Given the description of an element on the screen output the (x, y) to click on. 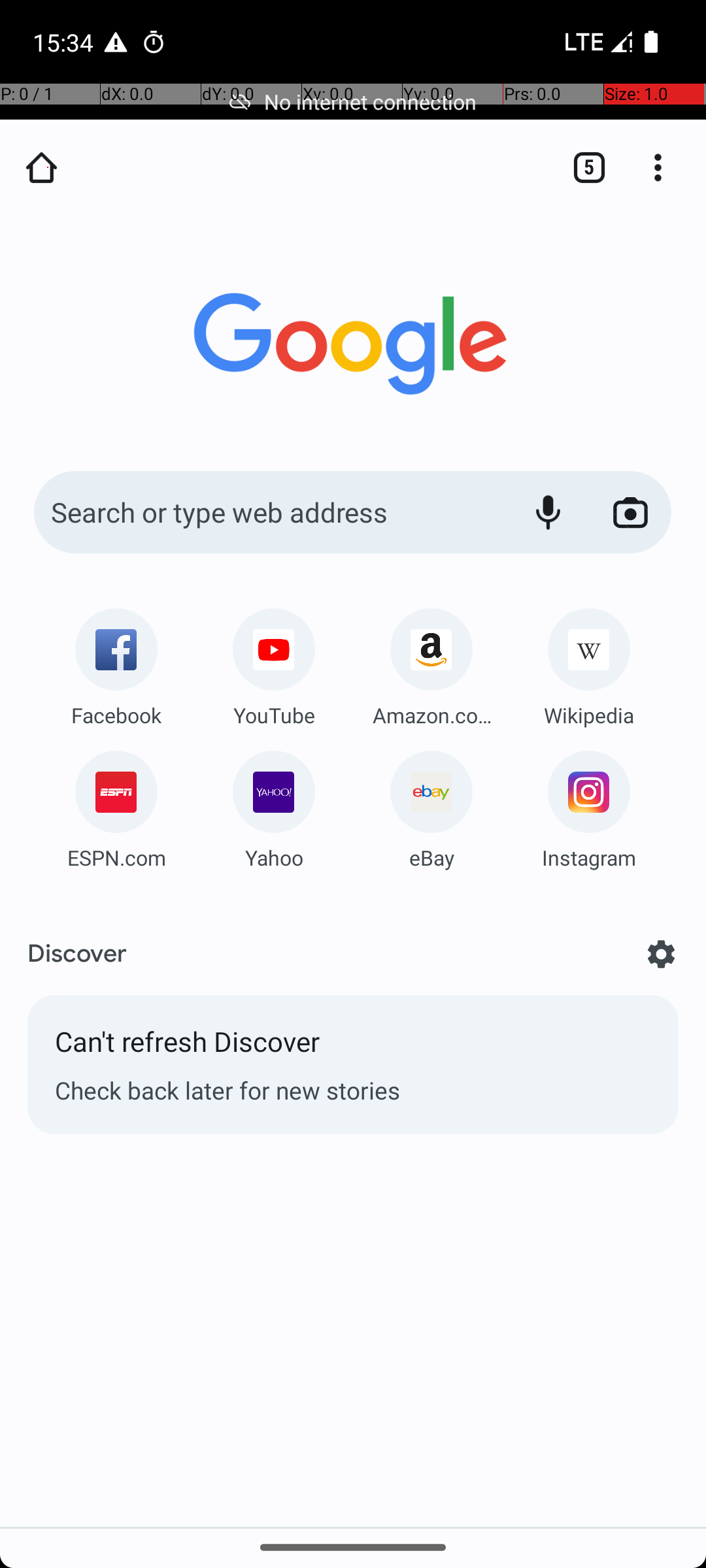
Search or type web address Element type: android.widget.EditText (267, 512)
Start voice search Element type: android.widget.ImageView (547, 512)
Search with your camera using Google Lens Element type: android.widget.ImageView (629, 512)
Navigate: Facebook: m.facebook.com Element type: android.widget.FrameLayout (115, 662)
Navigate: YouTube: m.youtube.com Element type: android.widget.FrameLayout (273, 662)
Navigate: Amazon.com: www.amazon.com Element type: android.widget.FrameLayout (431, 662)
Navigate: Wikipedia: en.m.wikipedia.org Element type: android.widget.FrameLayout (588, 662)
Navigate: ESPN.com: www.espn.com Element type: android.widget.FrameLayout (115, 804)
Navigate: Yahoo: www.yahoo.com Element type: android.widget.FrameLayout (273, 804)
Navigate: eBay: m.ebay.com Element type: android.widget.FrameLayout (431, 804)
Navigate: Instagram: www.instagram.com Element type: android.widget.FrameLayout (588, 804)
Discover Element type: android.widget.TextView (76, 953)
Options for Discover Element type: android.widget.ImageButton (660, 953)
Can't refresh Discover Element type: android.widget.TextView (352, 1047)
Check back later for new stories Element type: android.widget.TextView (352, 1089)
Facebook Element type: android.widget.TextView (115, 715)
Amazon.com Element type: android.widget.TextView (430, 715)
Wikipedia Element type: android.widget.TextView (588, 715)
ESPN.com Element type: android.widget.TextView (115, 857)
Yahoo Element type: android.widget.TextView (273, 857)
eBay Element type: android.widget.TextView (430, 857)
Instagram Element type: android.widget.TextView (588, 857)
